Given the description of an element on the screen output the (x, y) to click on. 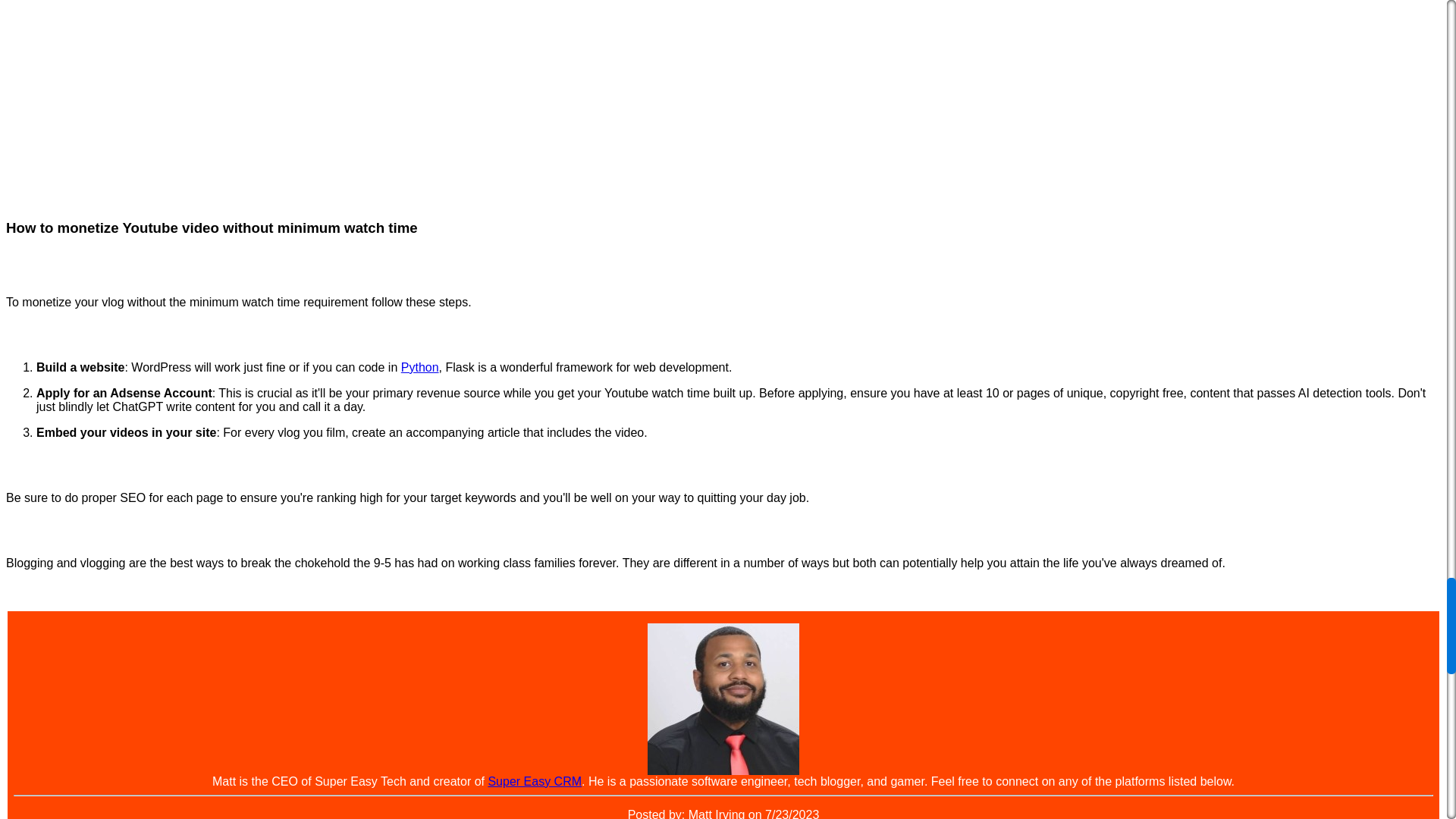
Super Easy CRM (533, 780)
Python (420, 367)
